Given the description of an element on the screen output the (x, y) to click on. 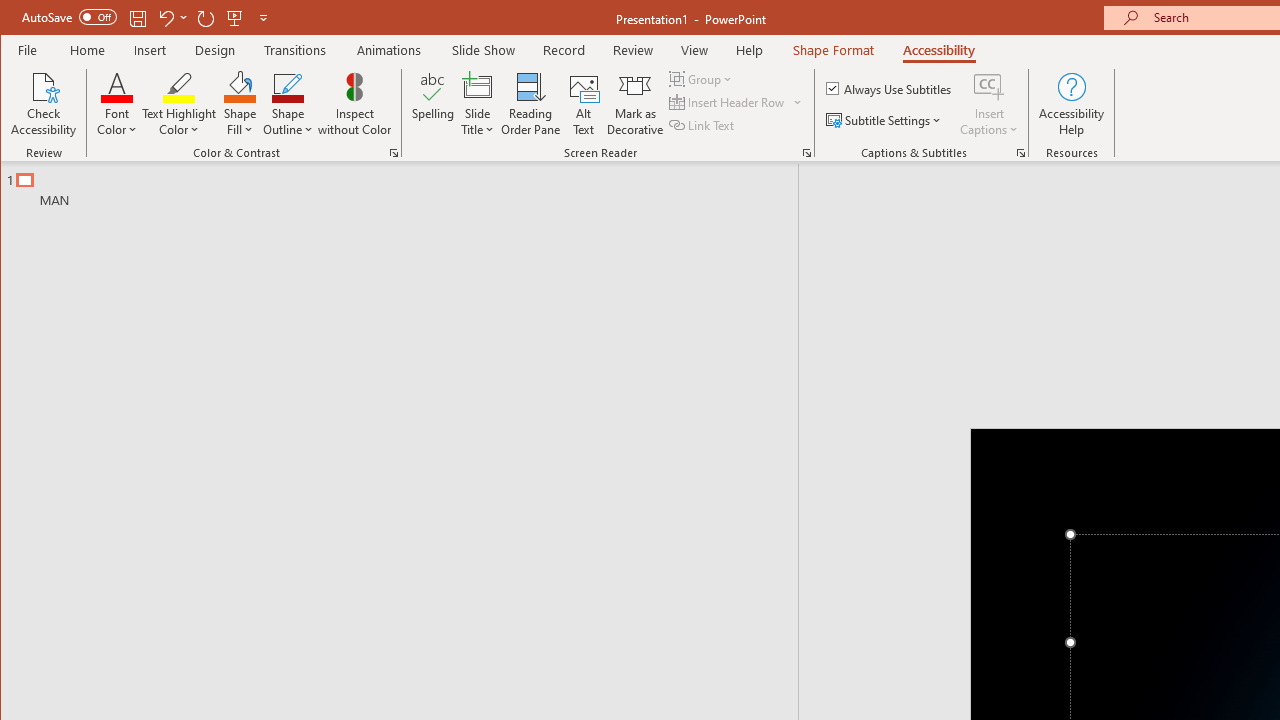
Screen Reader (806, 152)
Reading Order Pane (531, 104)
Color & Contrast (393, 152)
Slide Title (477, 86)
Accessibility Help (1071, 104)
Outline (408, 185)
Spelling... (432, 104)
